Given the description of an element on the screen output the (x, y) to click on. 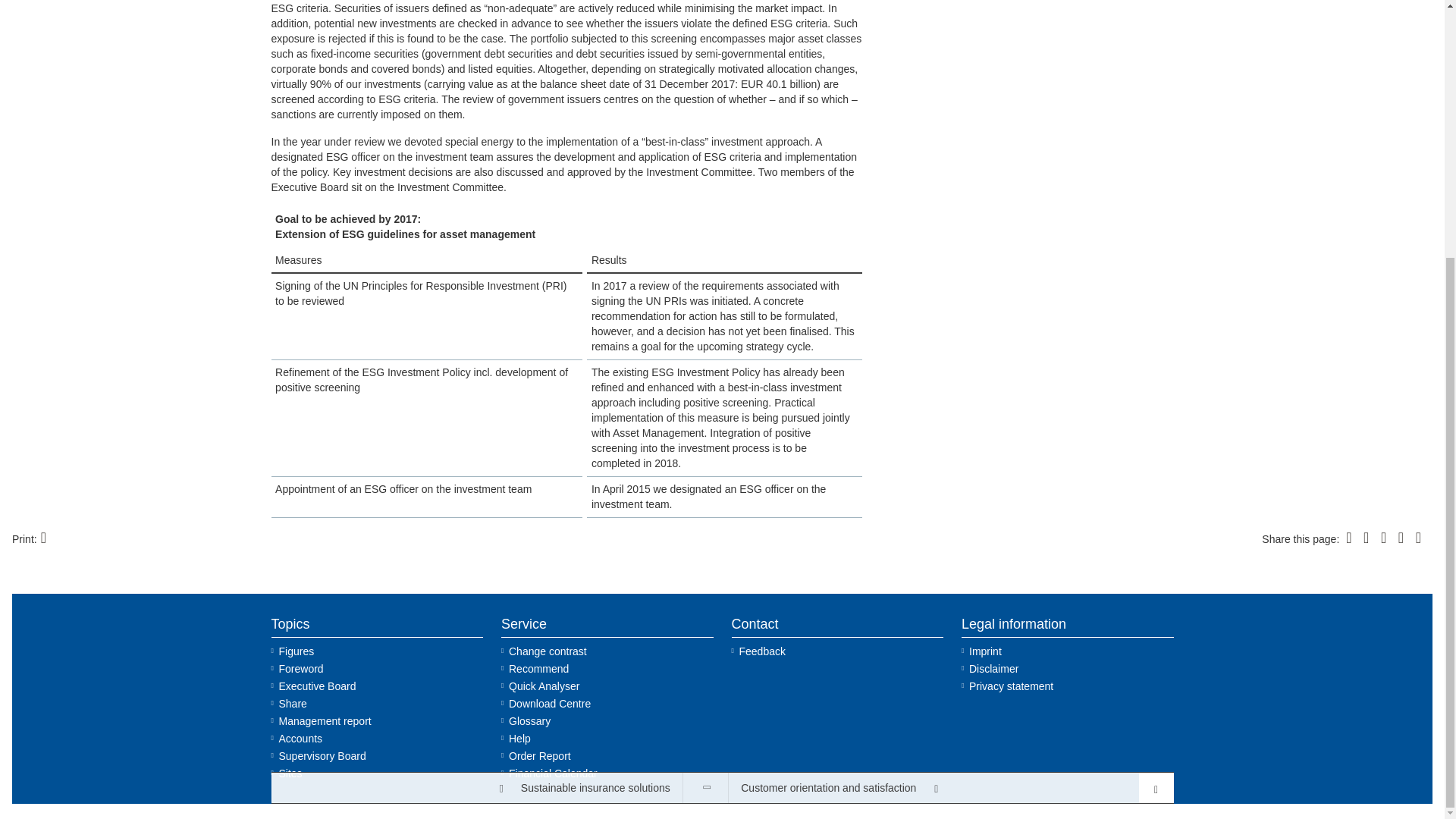
Order report (606, 755)
Customer orientation and satisfaction (934, 420)
Sustainable insurance solutions (476, 420)
Financial Calendar (606, 773)
